Given the description of an element on the screen output the (x, y) to click on. 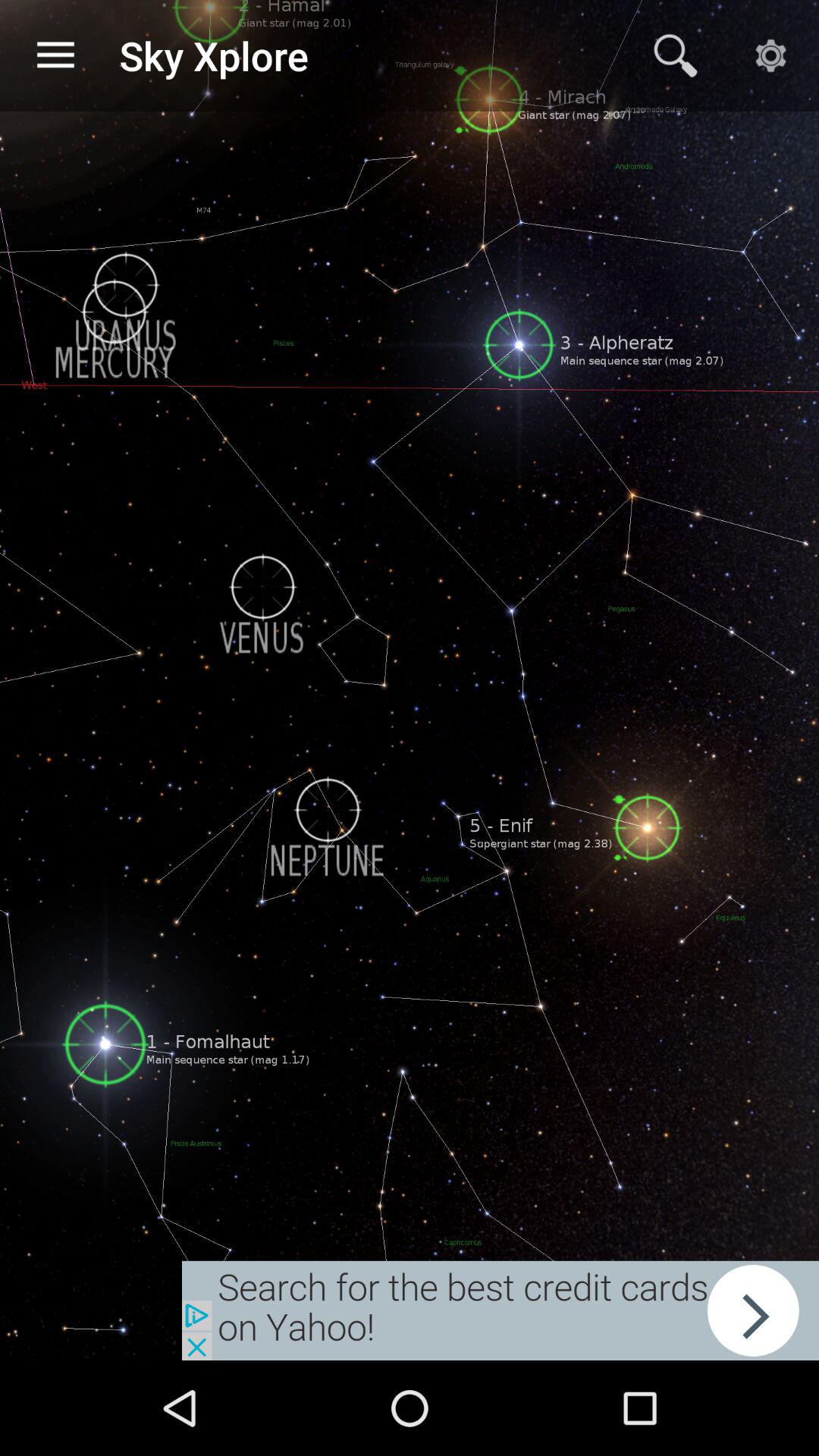
advertisement bar (500, 1310)
